Given the description of an element on the screen output the (x, y) to click on. 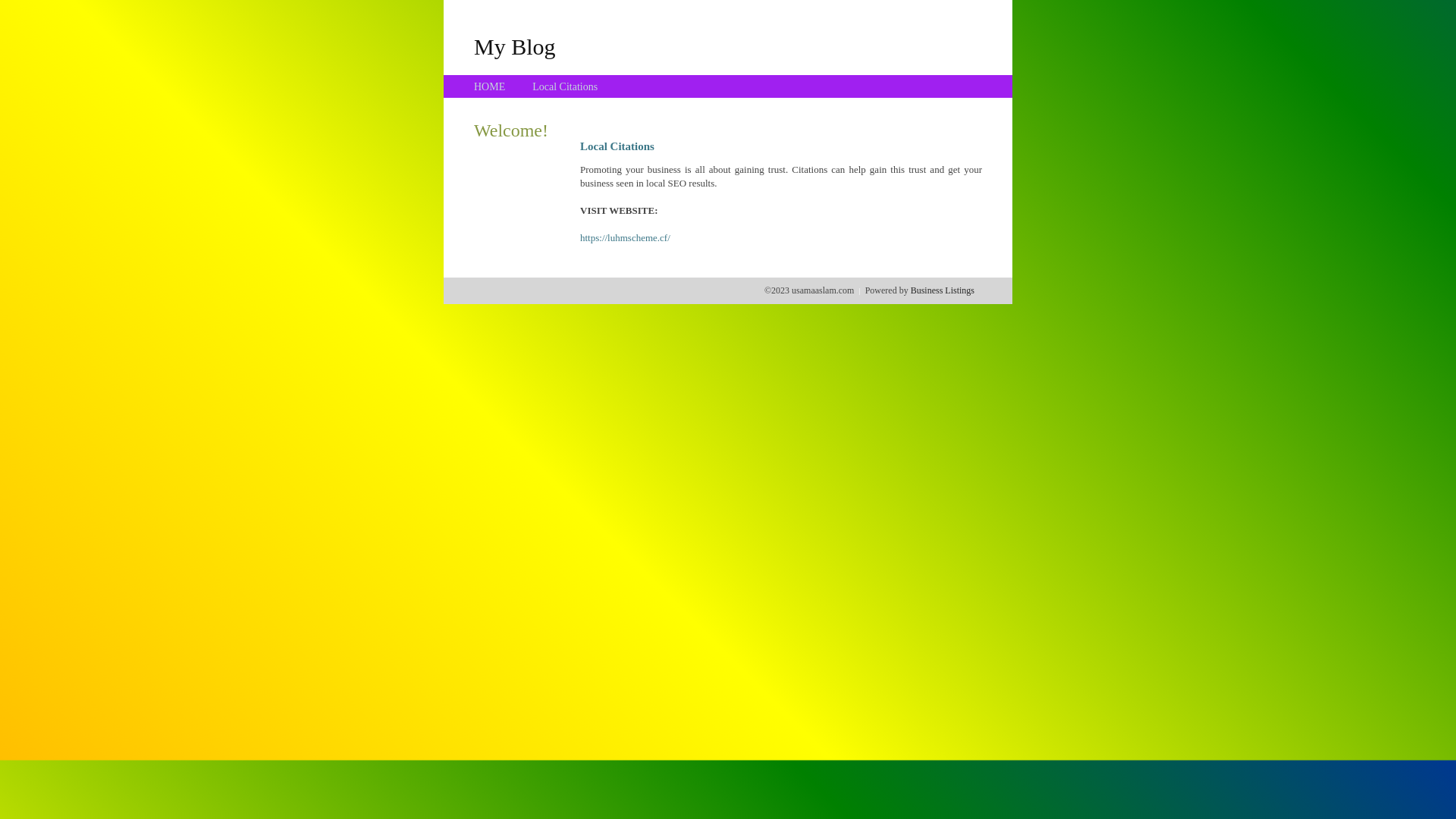
HOME Element type: text (489, 86)
https://luhmscheme.cf/ Element type: text (625, 237)
My Blog Element type: text (514, 46)
Local Citations Element type: text (564, 86)
Business Listings Element type: text (942, 290)
